Given the description of an element on the screen output the (x, y) to click on. 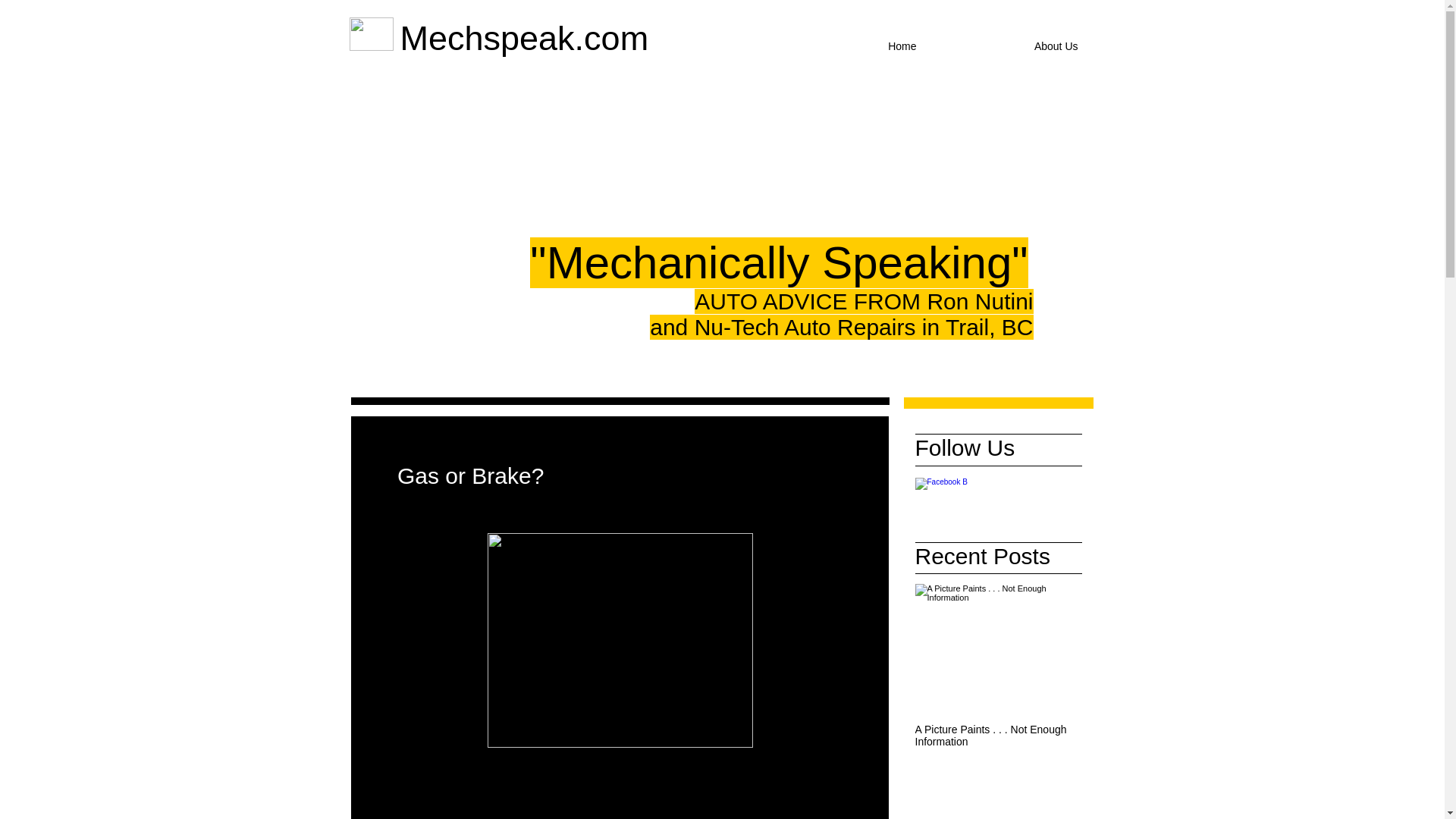
About Us (1008, 46)
Home (846, 46)
A Picture Paints . . . Not Enough Information (991, 735)
